Given the description of an element on the screen output the (x, y) to click on. 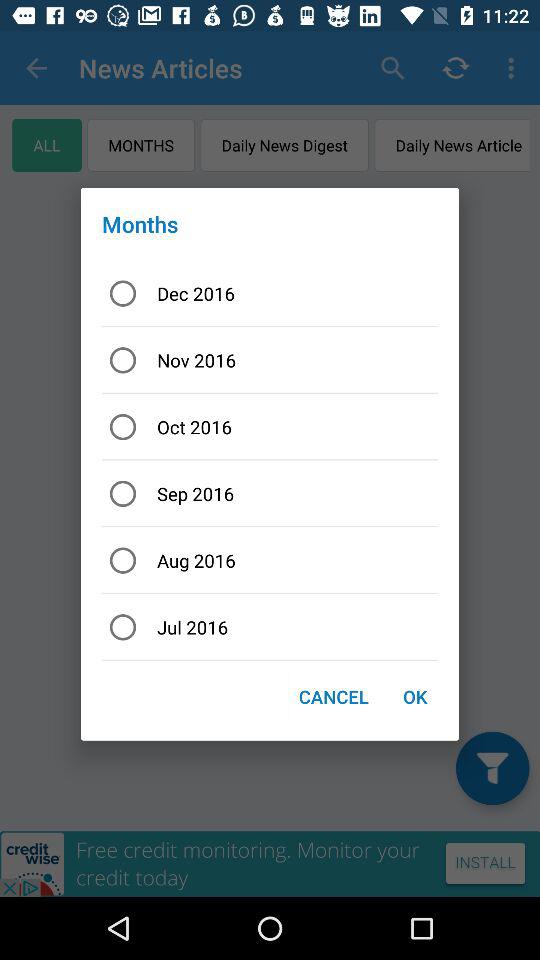
press the jul 2016 item (269, 626)
